Given the description of an element on the screen output the (x, y) to click on. 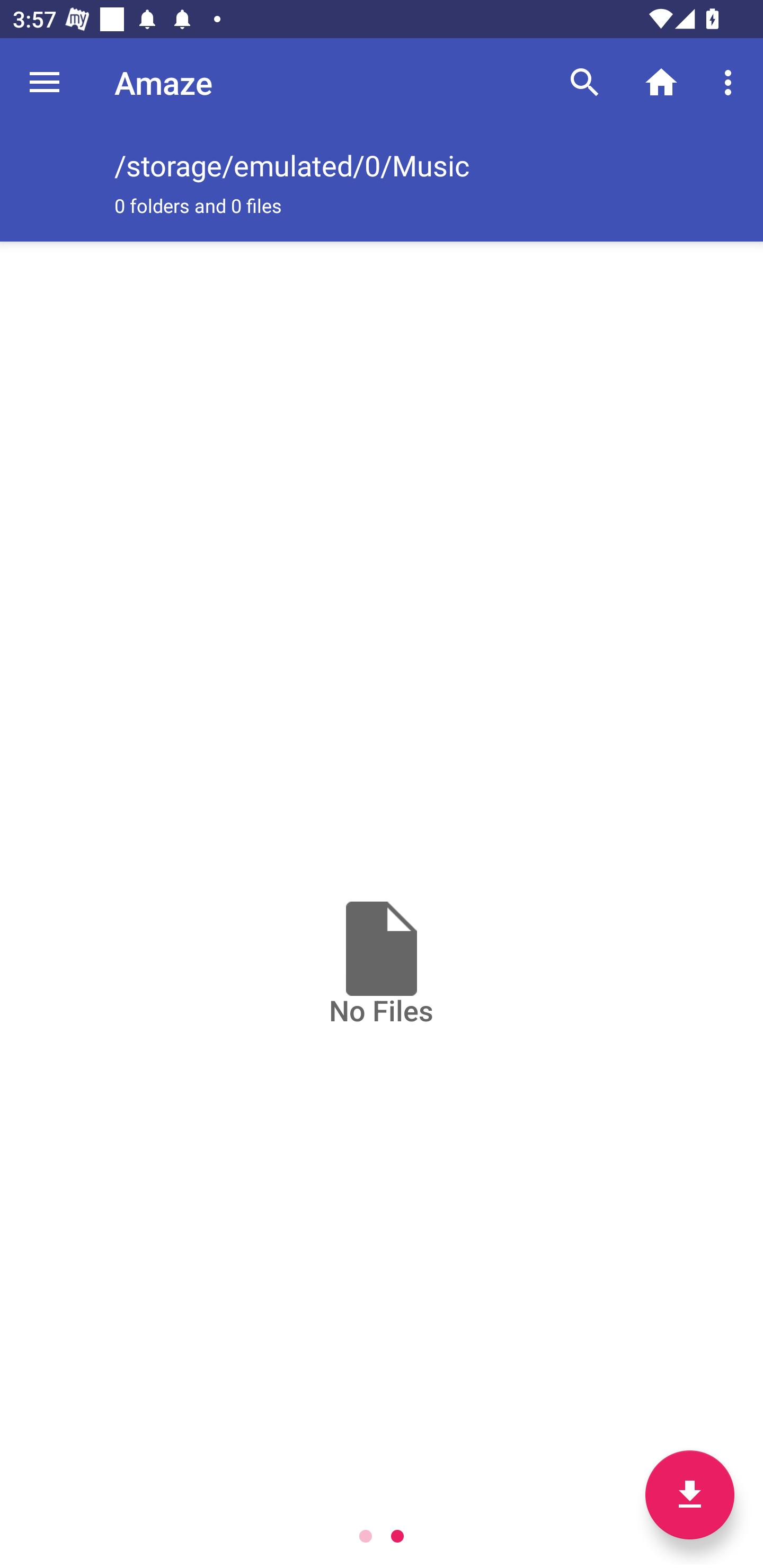
Navigate up (44, 82)
Search (585, 81)
Home (661, 81)
More options (731, 81)
